Given the description of an element on the screen output the (x, y) to click on. 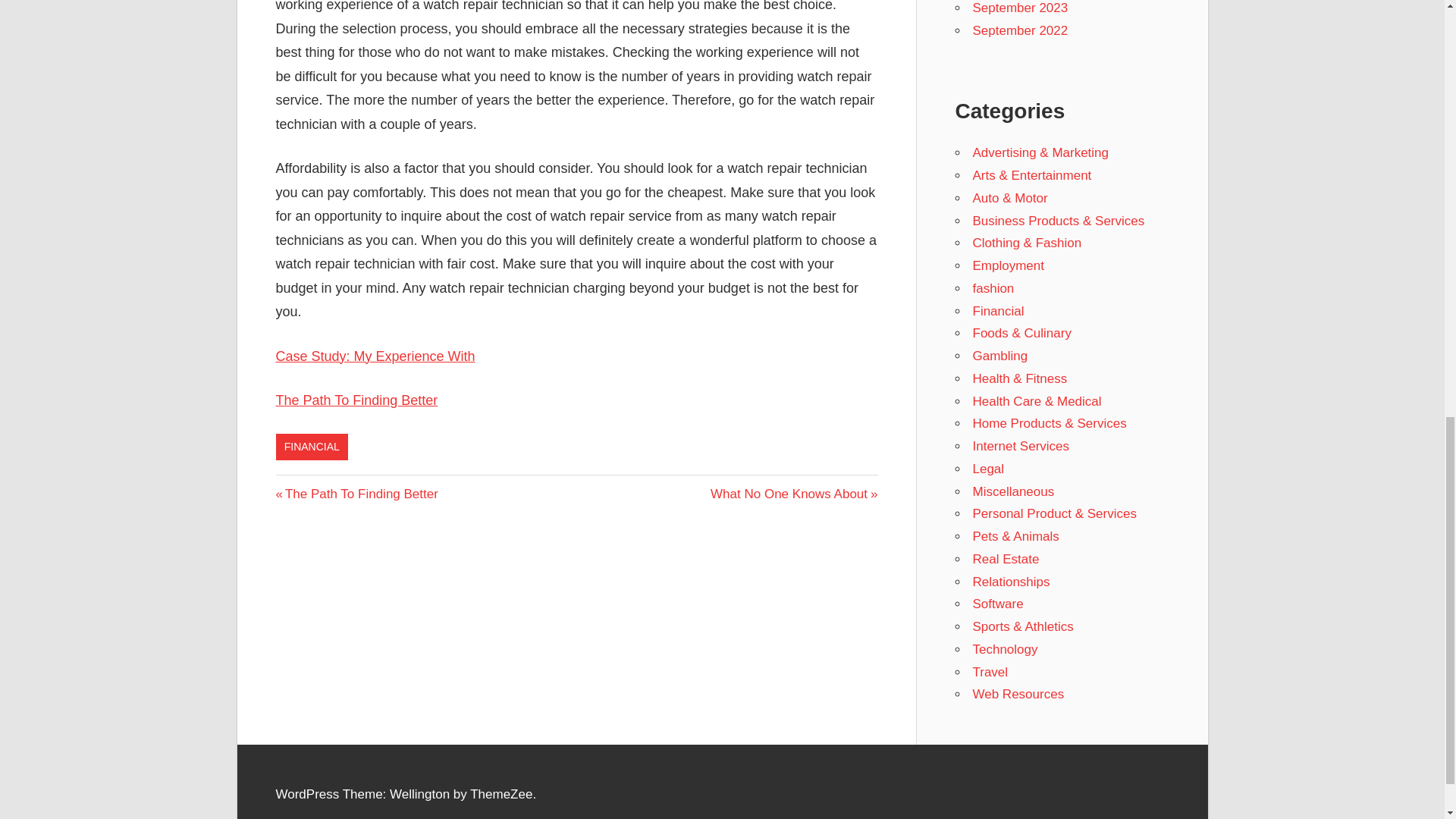
Employment (1007, 265)
Financial (997, 310)
September 2023 (357, 493)
September 2022 (1019, 7)
Case Study: My Experience With (1019, 29)
Gambling (376, 355)
fashion (999, 355)
FINANCIAL (992, 288)
